Given the description of an element on the screen output the (x, y) to click on. 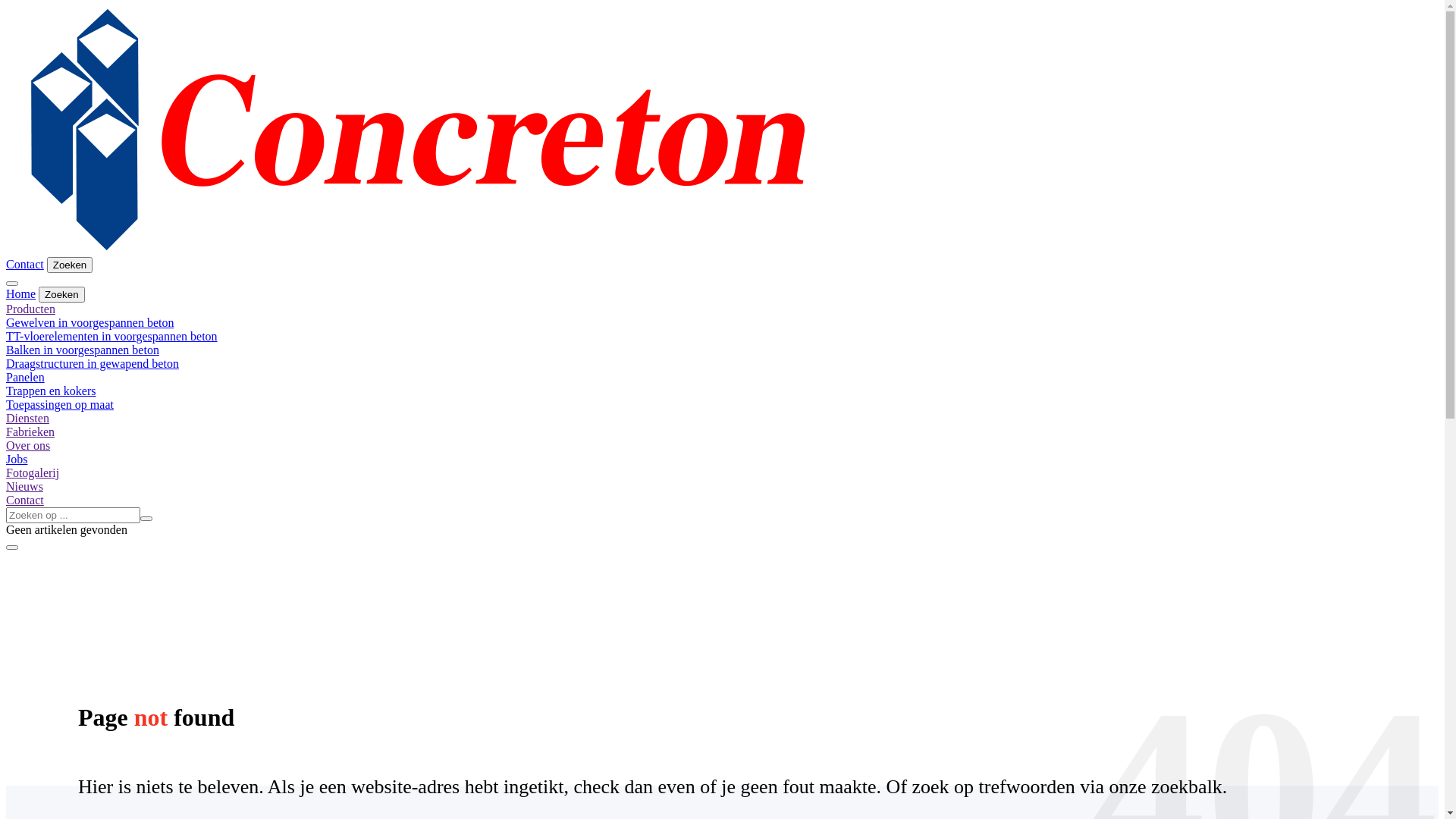
Over ons Element type: text (28, 445)
Fabrieken Element type: text (30, 431)
Jobs Element type: text (16, 458)
Zoeken Element type: text (61, 294)
Contact Element type: text (24, 499)
TT-vloerelementen in voorgespannen beton Element type: text (111, 335)
Diensten Element type: text (27, 417)
Trappen en kokers Element type: text (51, 390)
Fotogalerij Element type: text (32, 472)
Toepassingen op maat Element type: text (59, 404)
Draagstructuren in gewapend beton Element type: text (92, 363)
Zoeken Element type: text (69, 265)
Panelen Element type: text (25, 376)
Balken in voorgespannen beton Element type: text (82, 349)
Nieuws Element type: text (24, 486)
Producten Element type: text (30, 308)
Gewelven in voorgespannen beton Element type: text (89, 322)
Home Element type: text (20, 293)
Contact Element type: text (24, 263)
